Given the description of an element on the screen output the (x, y) to click on. 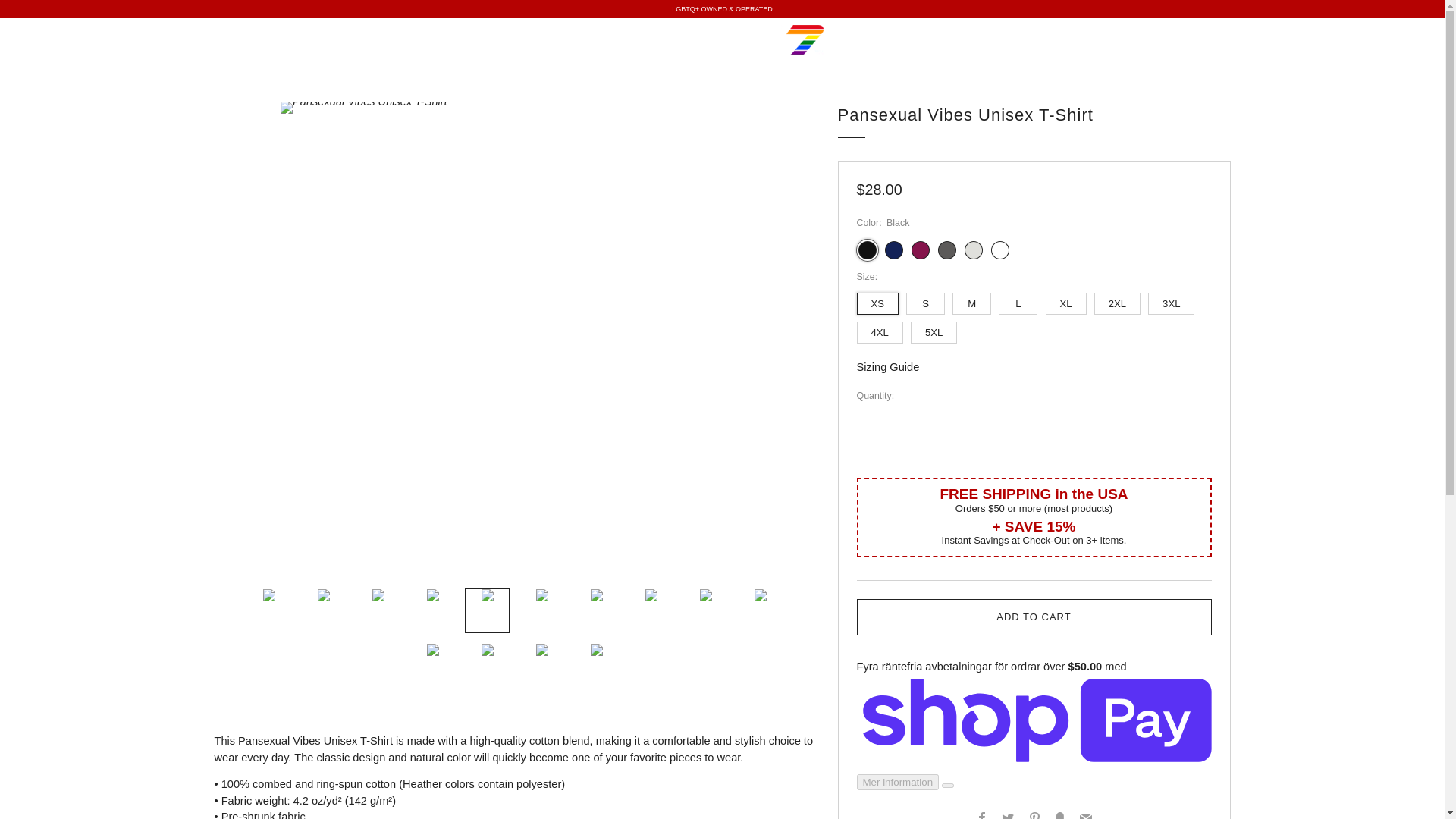
XL (1067, 299)
S (927, 299)
3XL (1173, 299)
